Given the description of an element on the screen output the (x, y) to click on. 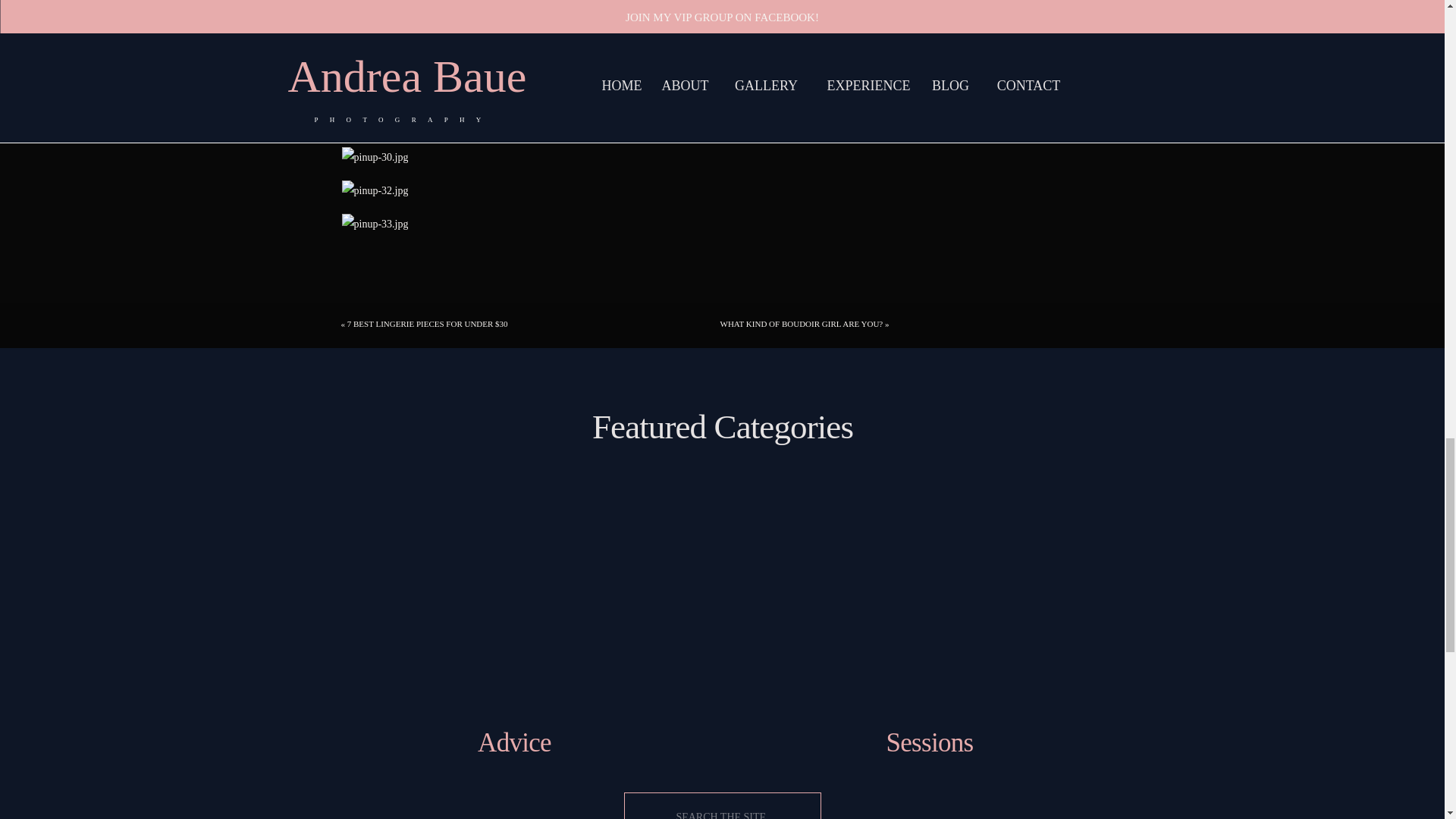
WHAT KIND OF BOUDOIR GIRL ARE YOU? (801, 323)
Advice (513, 742)
Sessions (928, 743)
